Given the description of an element on the screen output the (x, y) to click on. 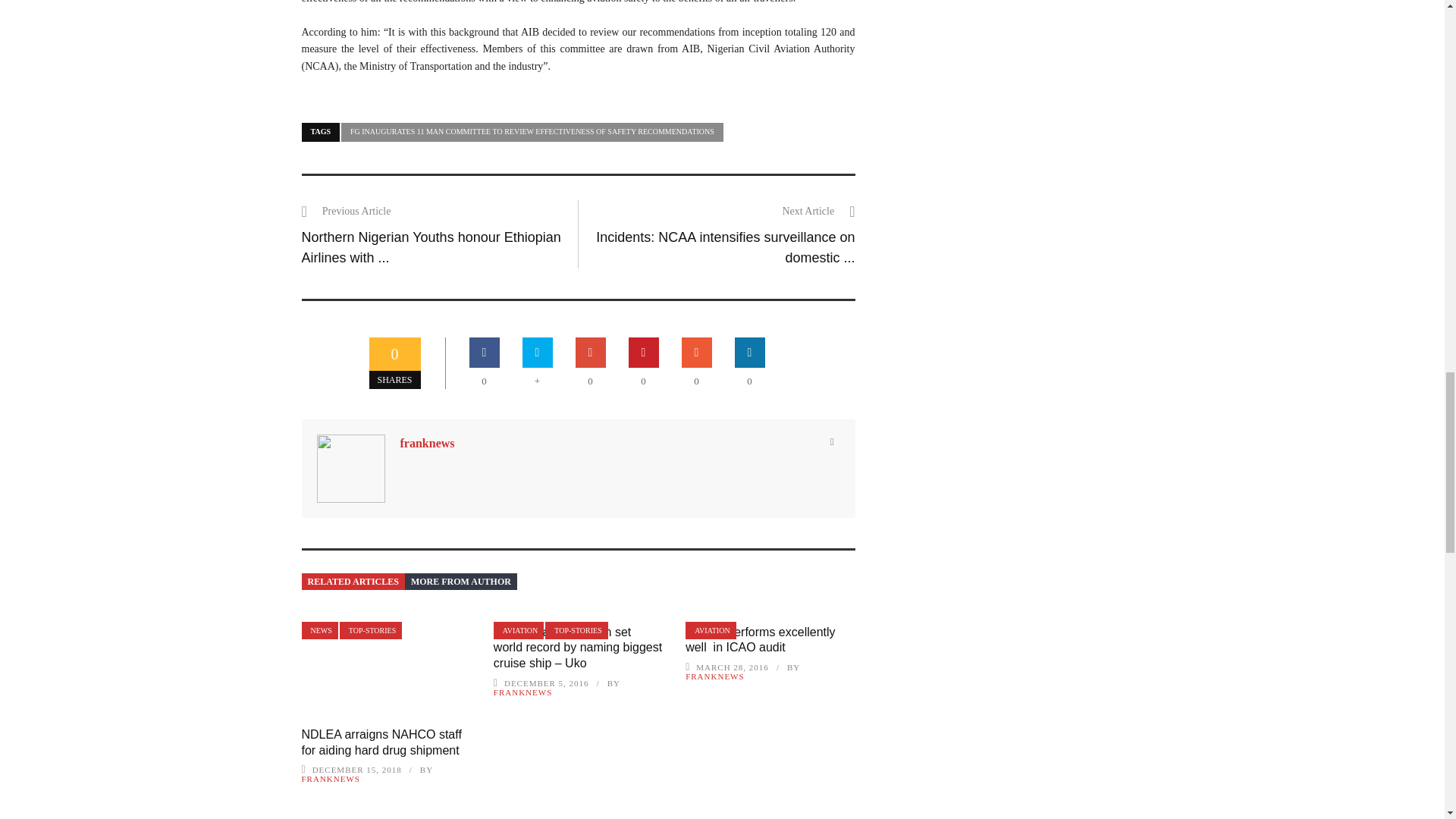
Incidents: NCAA intensifies surveillance on domestic ... (724, 246)
Northern Nigerian Youths honour Ethiopian Airlines with ... (430, 246)
